Given the description of an element on the screen output the (x, y) to click on. 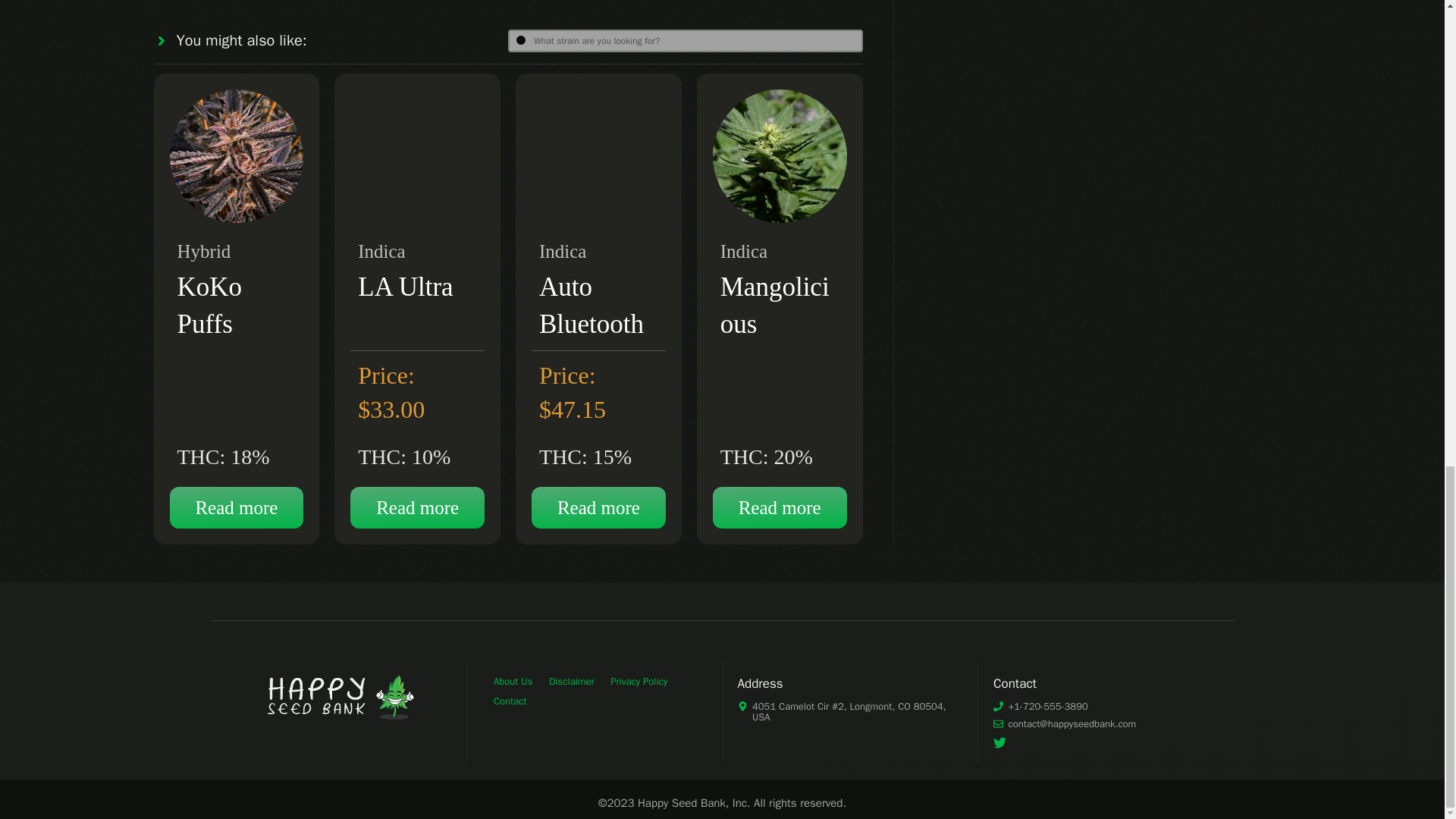
Read more (598, 507)
hsb logo brand (337, 696)
Read more (237, 507)
Scroll back to top (1406, 448)
LA Ultra (405, 286)
Read more (780, 507)
Auto Bluetooth (590, 305)
KoKo Puffs (210, 305)
Read more (417, 507)
Mangolicious (774, 305)
Disclaimer (571, 681)
About Us (512, 681)
Privacy Policy (638, 681)
